Given the description of an element on the screen output the (x, y) to click on. 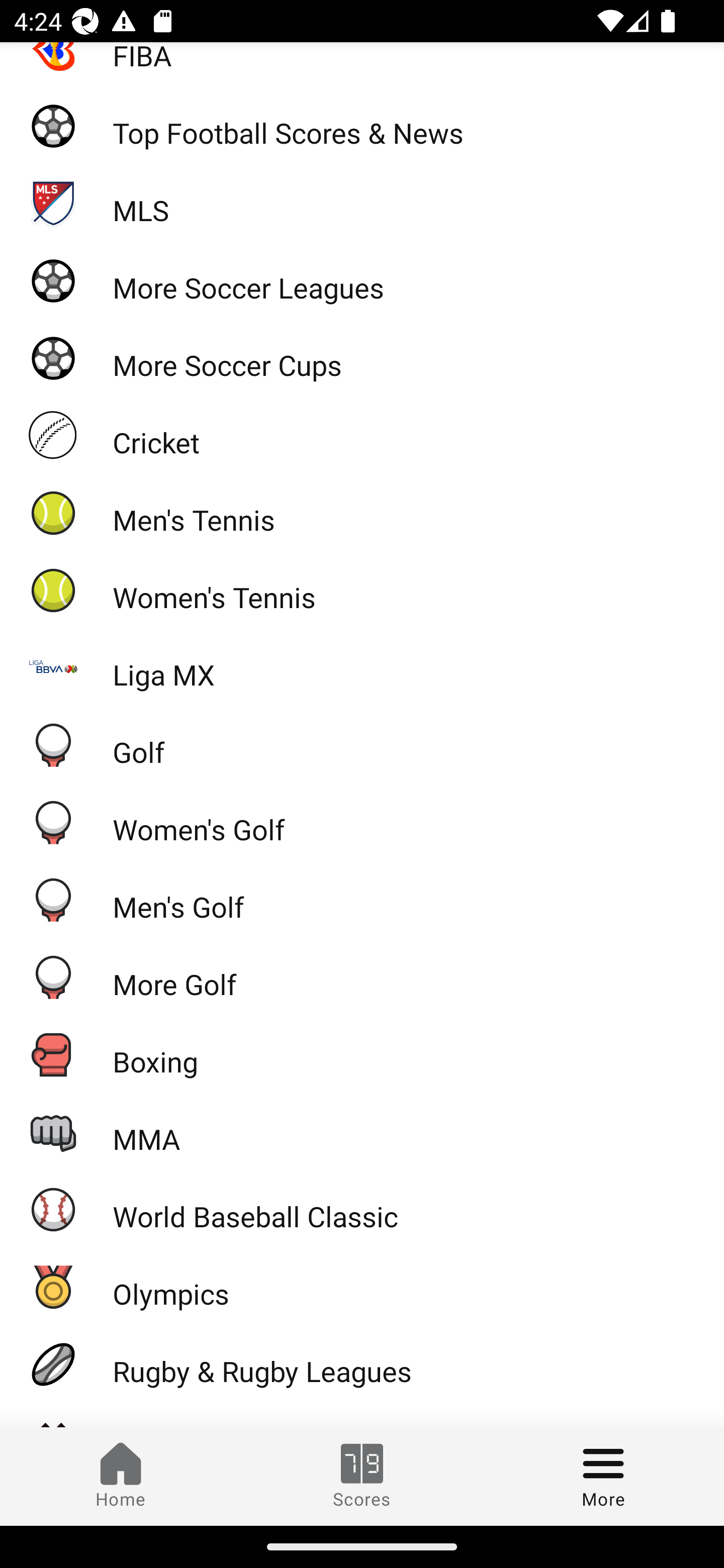
Top Football Scores & News (362, 125)
MLS (362, 202)
More Soccer Leagues (362, 280)
More Soccer Cups (362, 357)
Cricket G Cricket (362, 434)
Men's Tennis (362, 512)
Women's Tennis (362, 589)
Liga MX (362, 666)
Golf (362, 744)
Women's Golf (362, 822)
Men's Golf (362, 898)
More Golf (362, 976)
Boxing (362, 1054)
MMA (362, 1130)
World Baseball Classic (362, 1208)
Olympics (362, 1286)
Rugby & Rugby Leagues (362, 1363)
Home (120, 1475)
Scores (361, 1475)
